Given the description of an element on the screen output the (x, y) to click on. 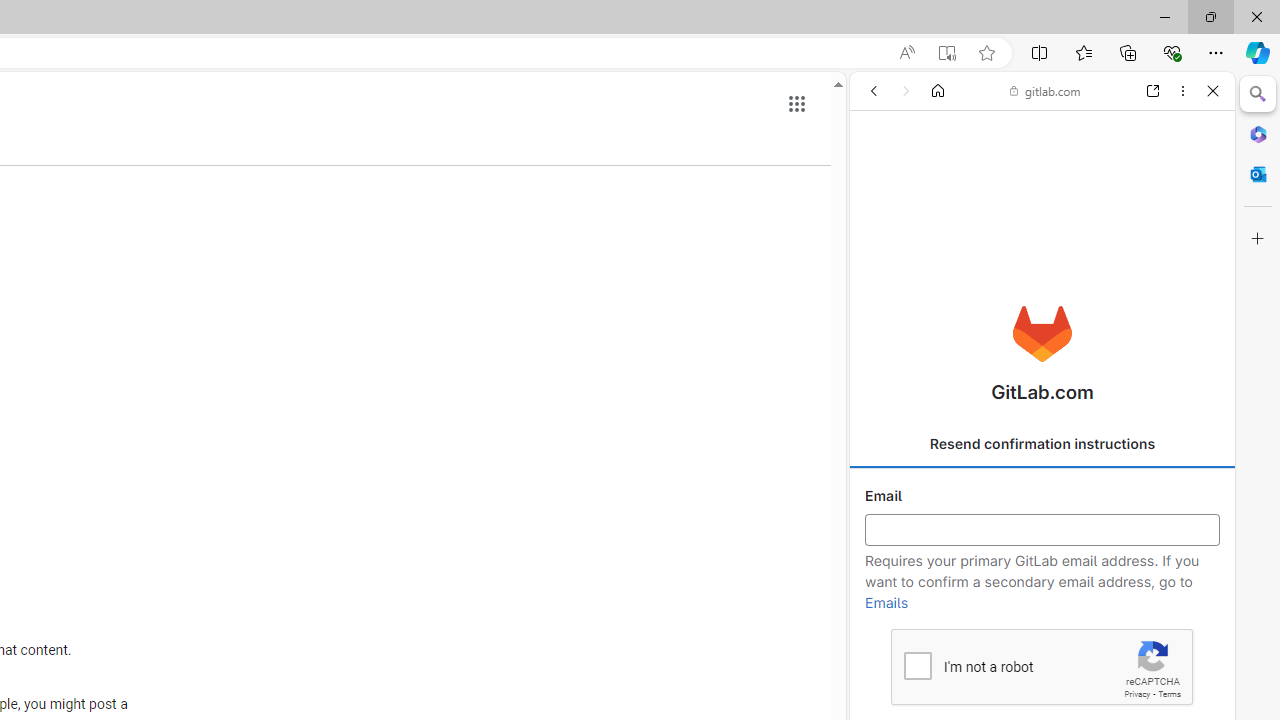
GitLab.com (1042, 333)
Login (1042, 494)
Search Filter, IMAGES (936, 228)
Confirmation Page (1042, 690)
Preferences (1189, 228)
Register Now (1042, 445)
Search Filter, VIDEOS (1002, 228)
Login (1042, 494)
SEARCH TOOLS (1090, 228)
Email (1042, 530)
More options (1182, 91)
Close Search pane (1258, 94)
Add this page to favorites (Ctrl+D) (986, 53)
Terms (1169, 694)
